Given the description of an element on the screen output the (x, y) to click on. 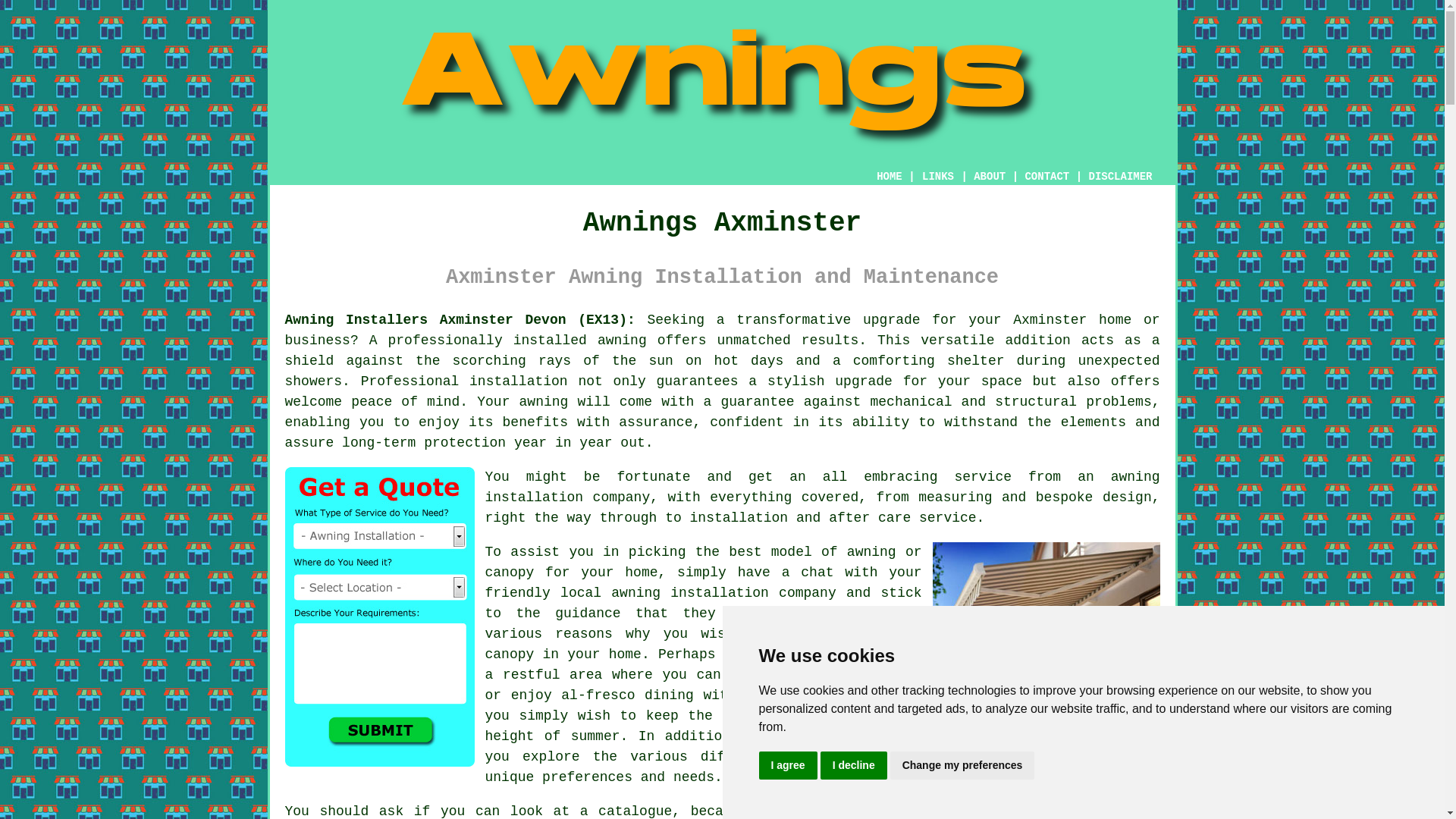
LINKS (938, 176)
Change my preferences (962, 765)
I agree (787, 765)
awning installation company (723, 592)
I decline (853, 765)
HOME (889, 176)
